Given the description of an element on the screen output the (x, y) to click on. 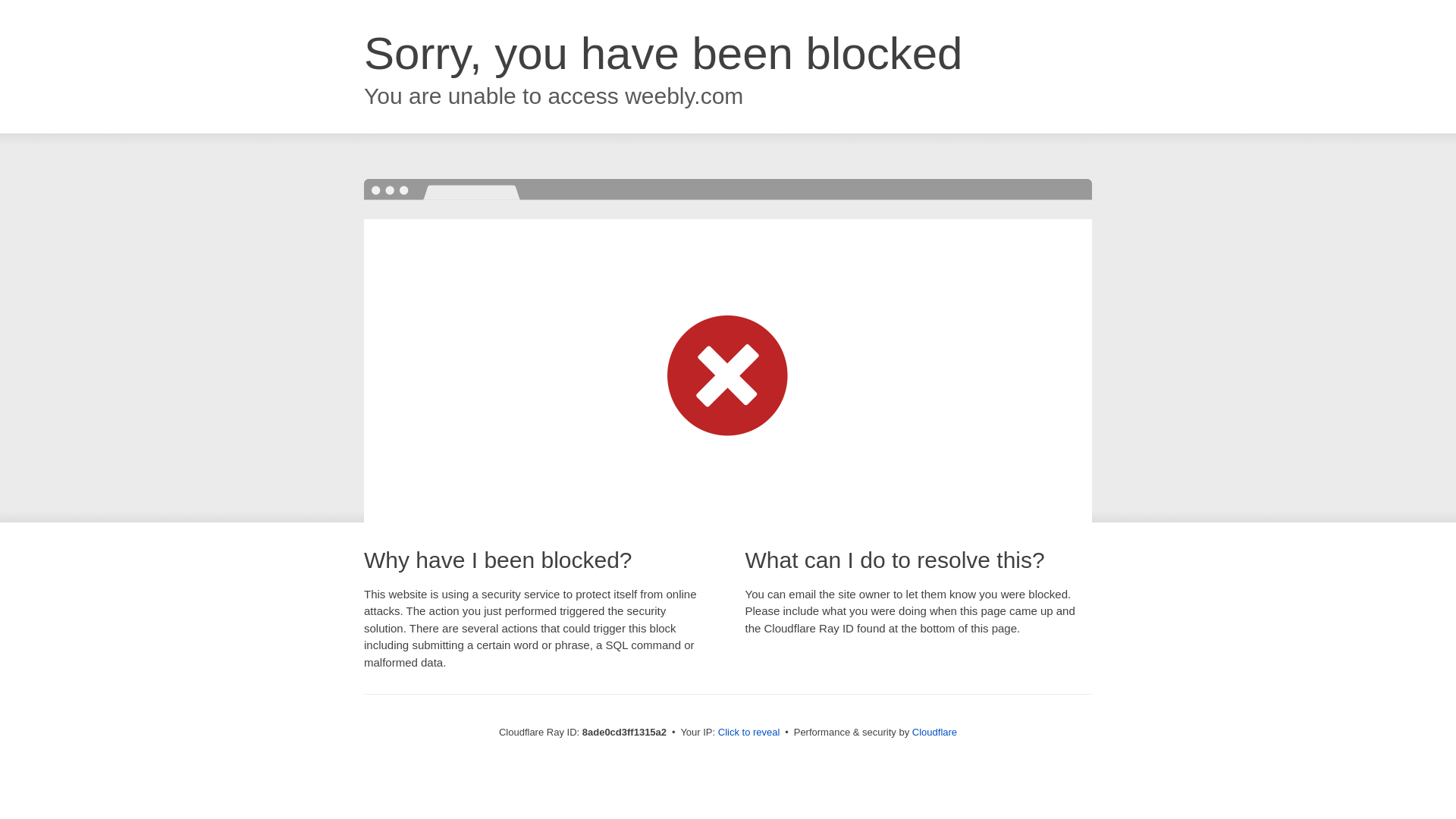
Click to reveal (748, 732)
Cloudflare (934, 731)
